Given the description of an element on the screen output the (x, y) to click on. 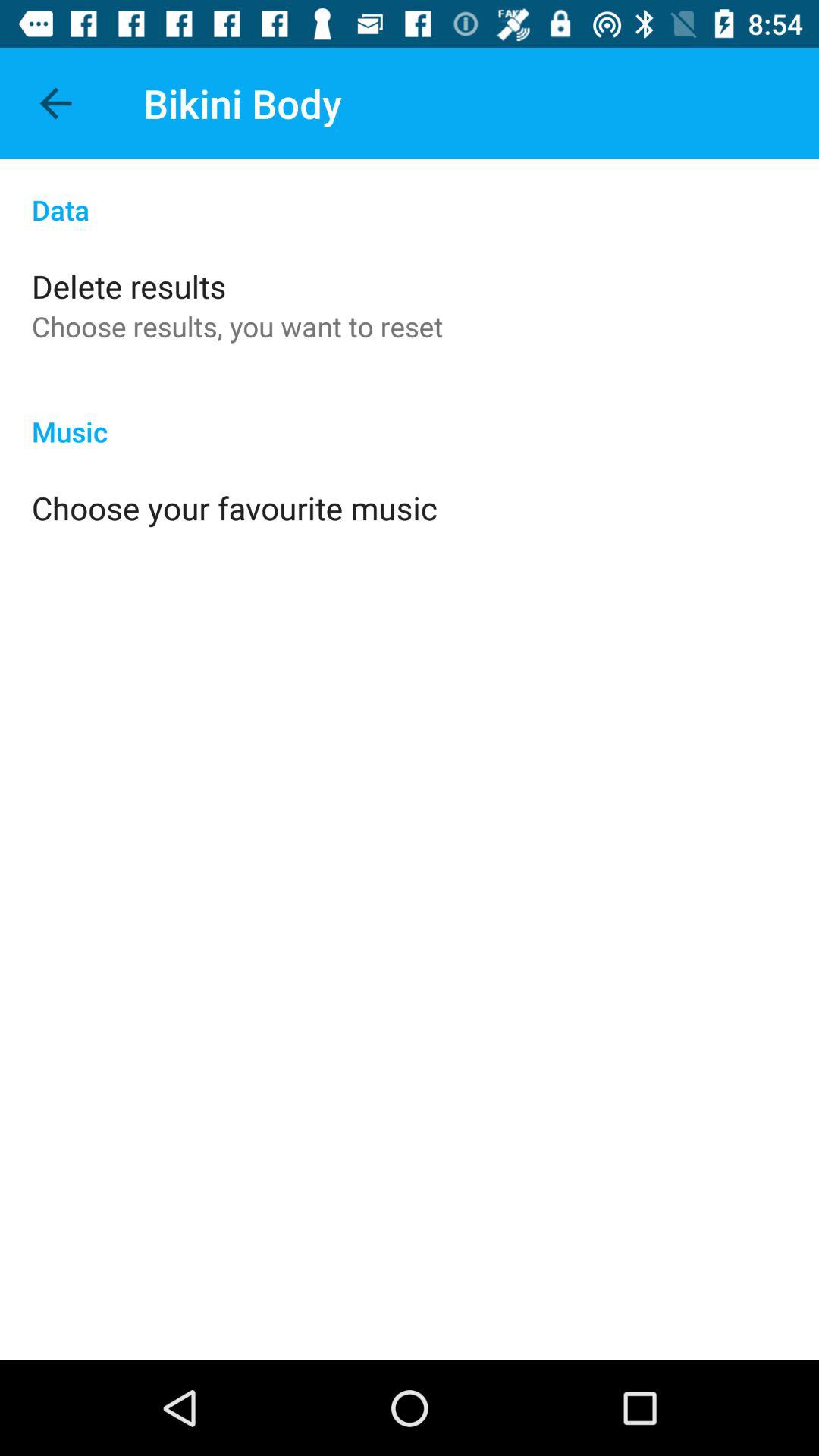
jump until choose your favourite (234, 507)
